Given the description of an element on the screen output the (x, y) to click on. 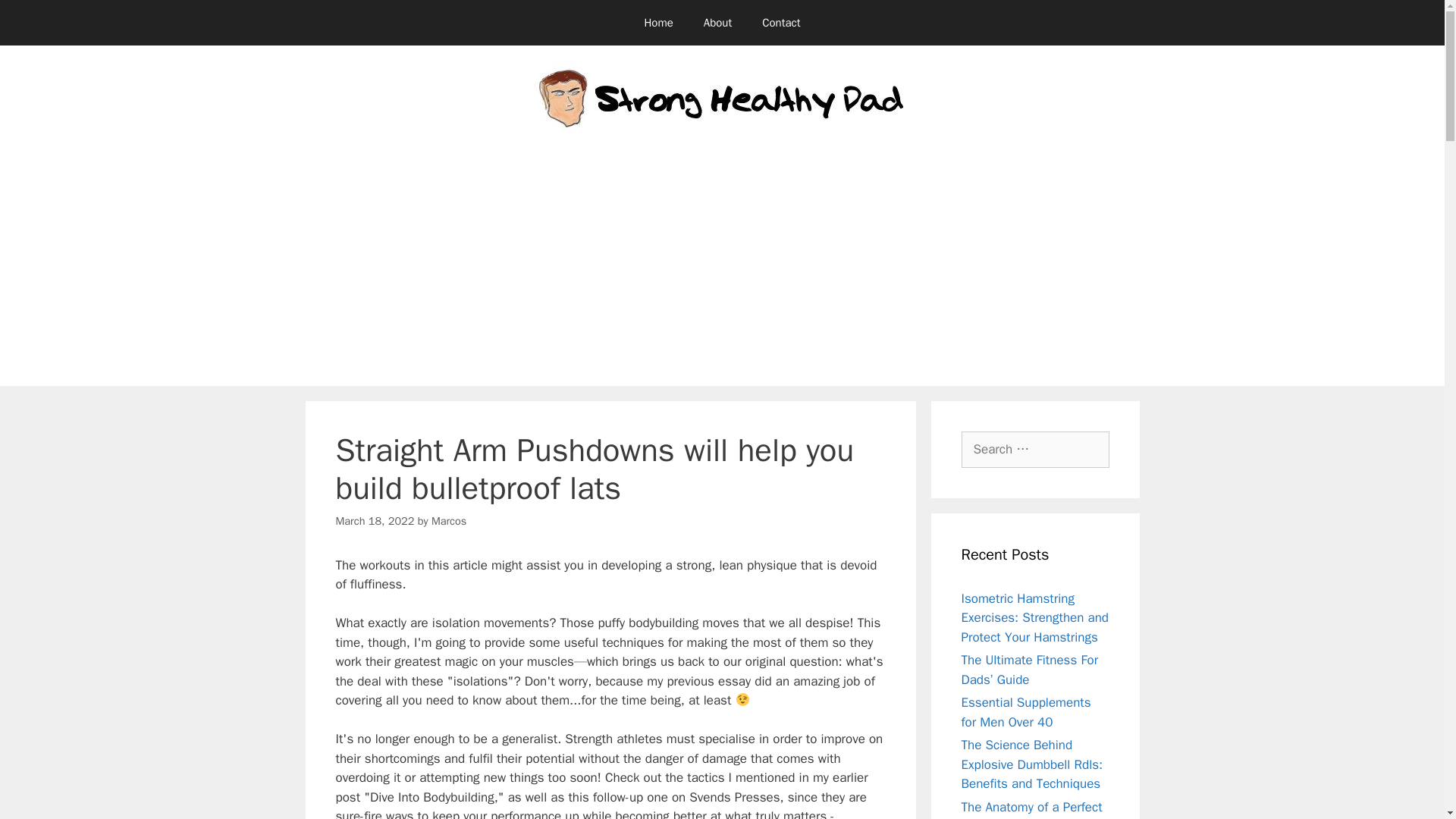
Marcos (447, 520)
Search (35, 18)
Essential Supplements for Men Over 40 (1025, 712)
Search for: (1034, 449)
Strong Healthy Dad (721, 101)
Contact (780, 22)
Strong Healthy Dad (721, 100)
The Anatomy of a Perfect Clean and Press Workout (1031, 809)
View all posts by Marcos (447, 520)
About (717, 22)
Home (657, 22)
